Given the description of an element on the screen output the (x, y) to click on. 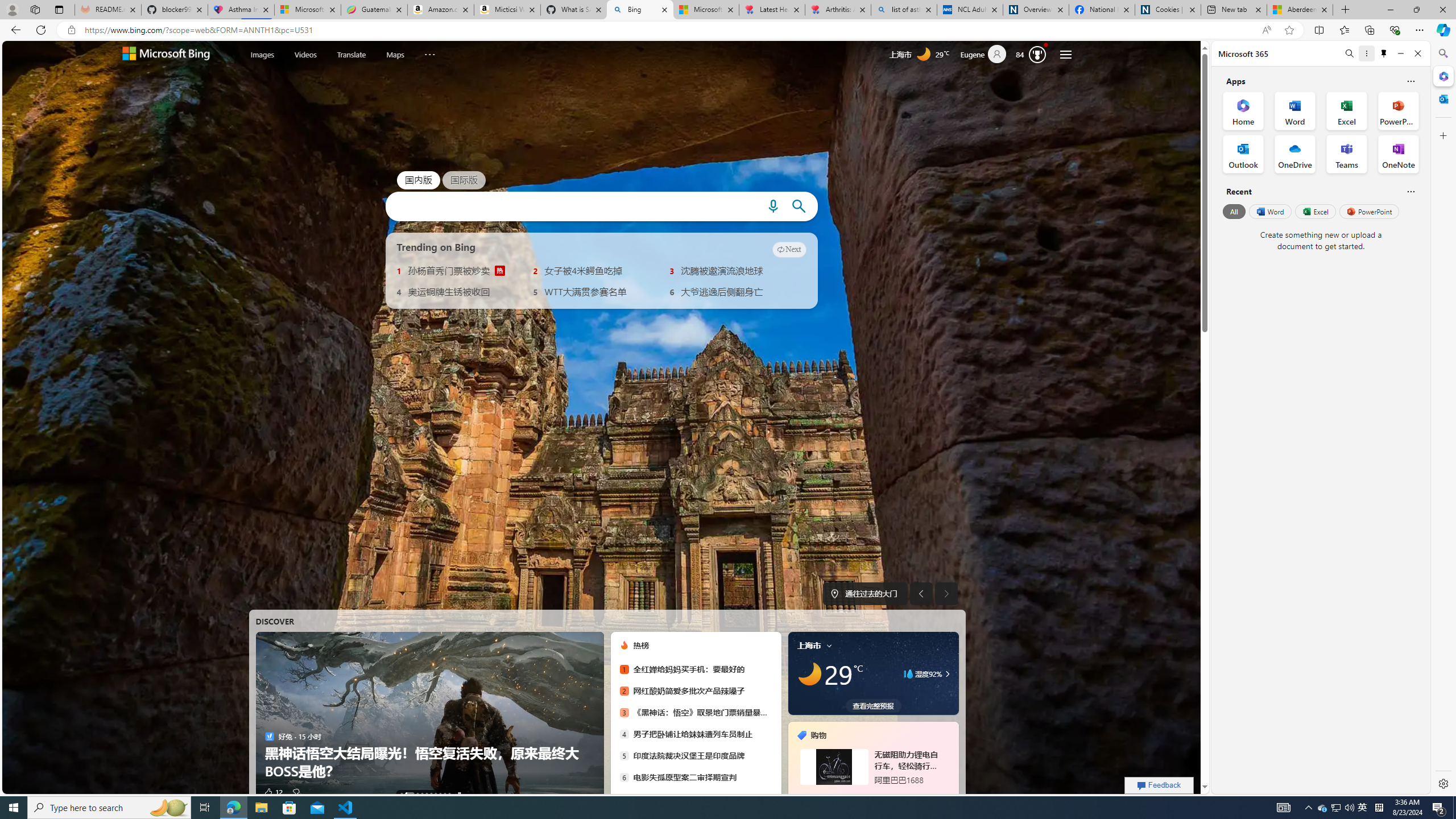
PowerPoint Office App (1398, 110)
Teams Office App (1346, 154)
AutomationID: rh_meter (1037, 54)
Animation (1045, 44)
tab-4 (887, 795)
